Given the description of an element on the screen output the (x, y) to click on. 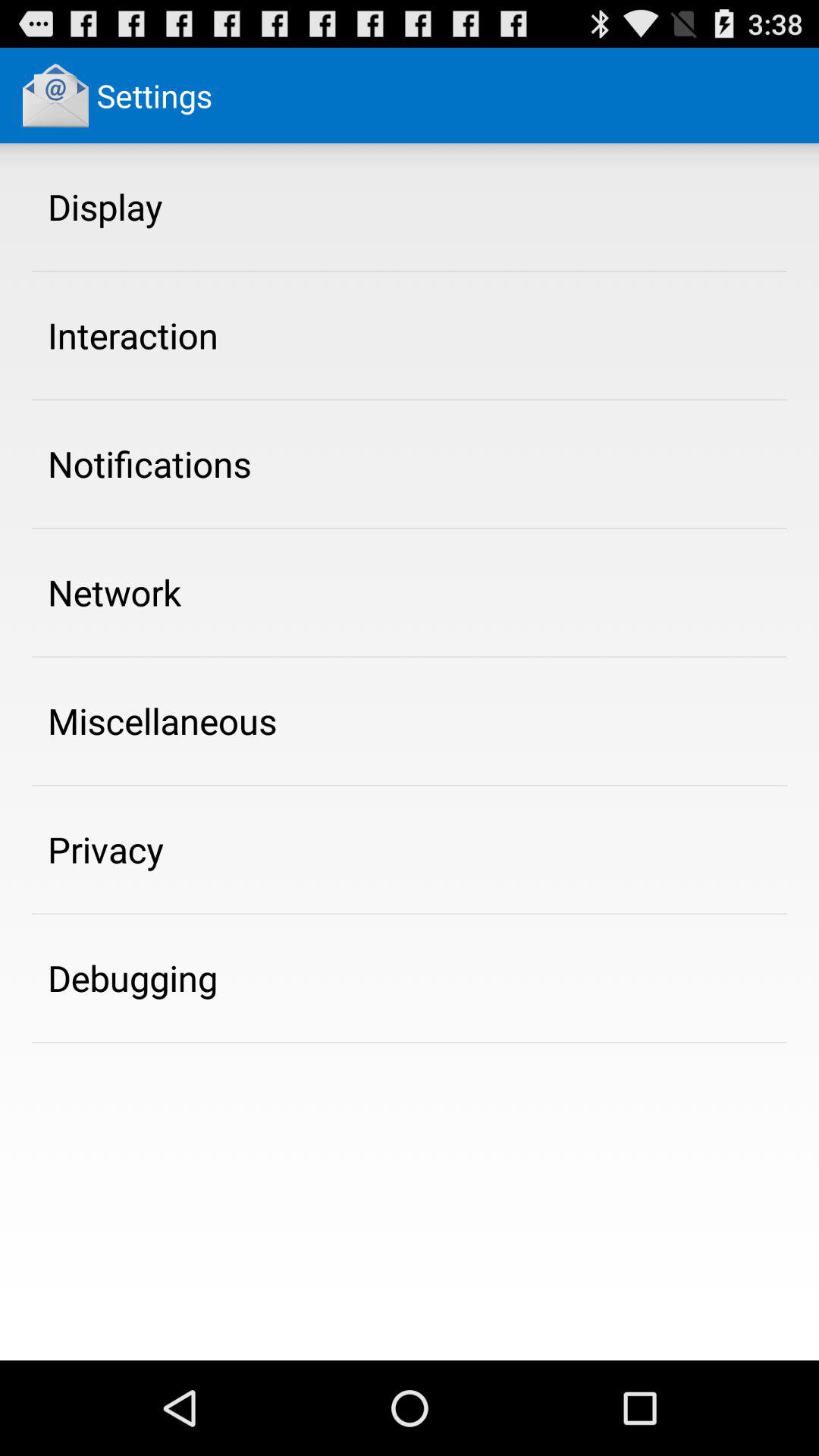
scroll until interaction app (132, 335)
